Given the description of an element on the screen output the (x, y) to click on. 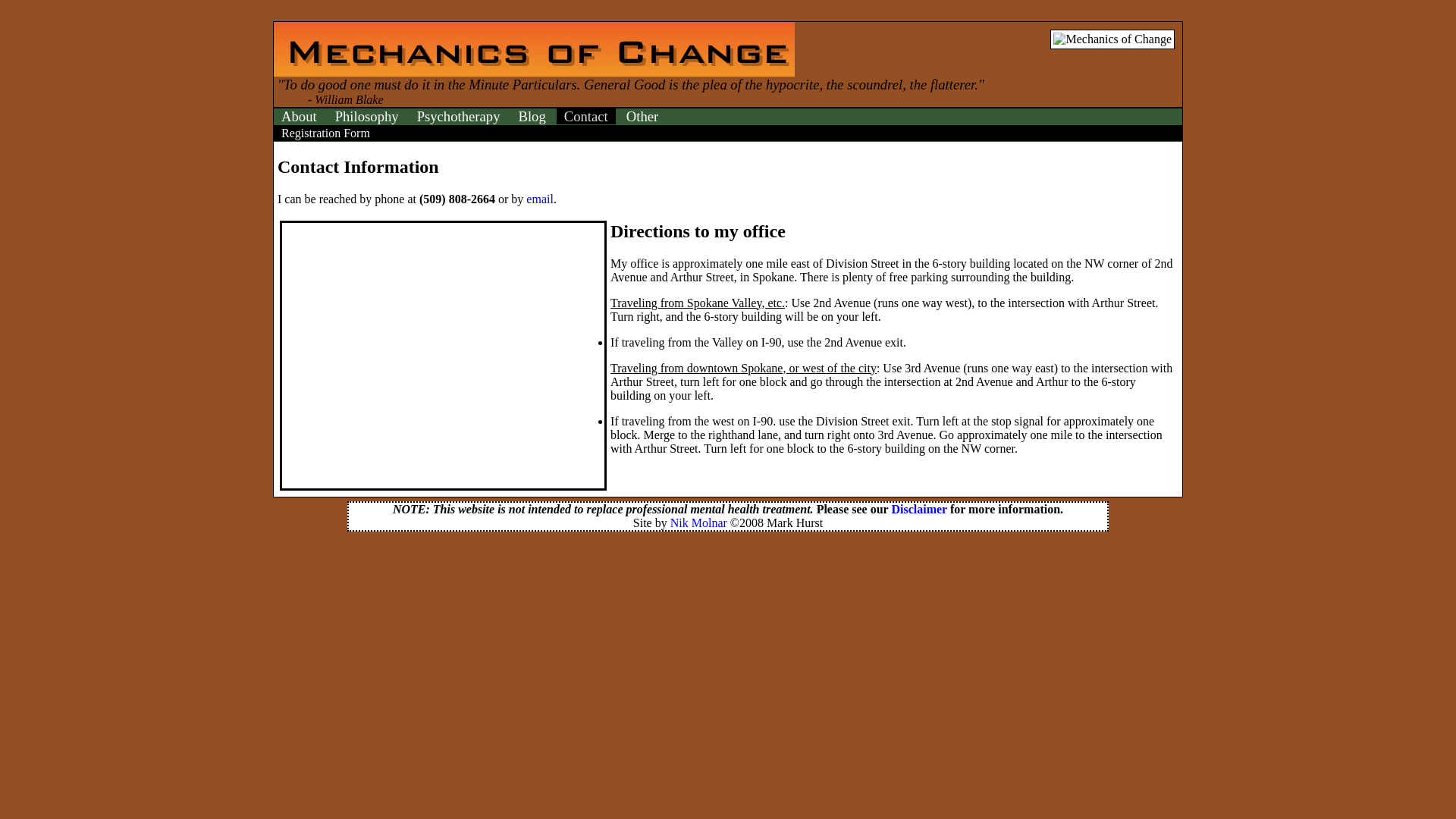
Philosophy (366, 116)
Registration Form (325, 132)
Disclaimer (918, 508)
Other (641, 116)
Contact (585, 116)
Blog (532, 116)
About (298, 116)
email (539, 198)
Psychotherapy (458, 116)
